Given the description of an element on the screen output the (x, y) to click on. 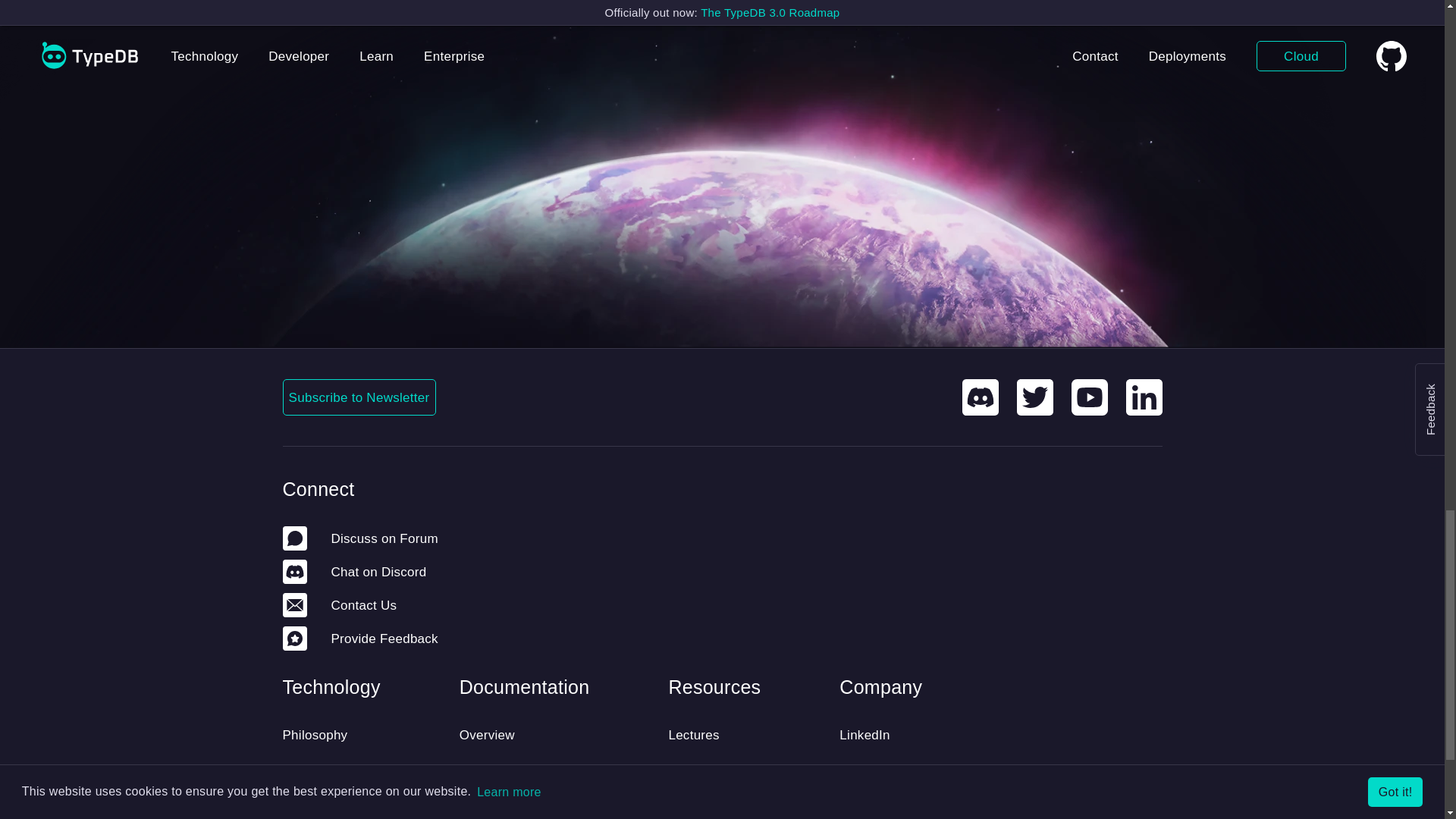
Discord (978, 397)
Subscribe to Newsletter (358, 397)
YouTube (1088, 397)
Twitter (1034, 397)
LinkedIn (1143, 397)
